Given the description of an element on the screen output the (x, y) to click on. 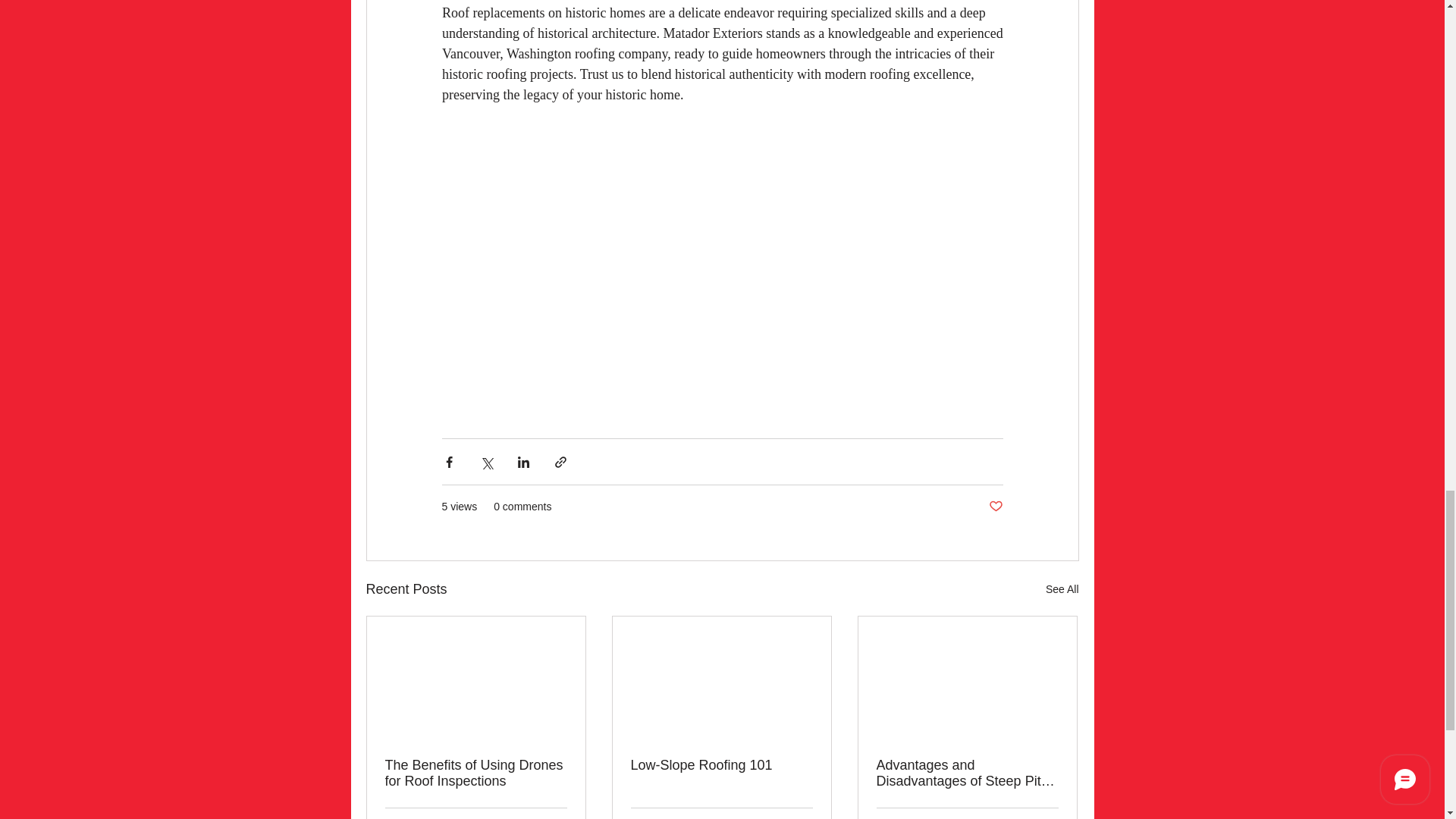
Post not marked as liked (995, 506)
Low-Slope Roofing 101 (721, 765)
remote content (722, 263)
See All (1061, 589)
The Benefits of Using Drones for Roof Inspections (476, 773)
